Given the description of an element on the screen output the (x, y) to click on. 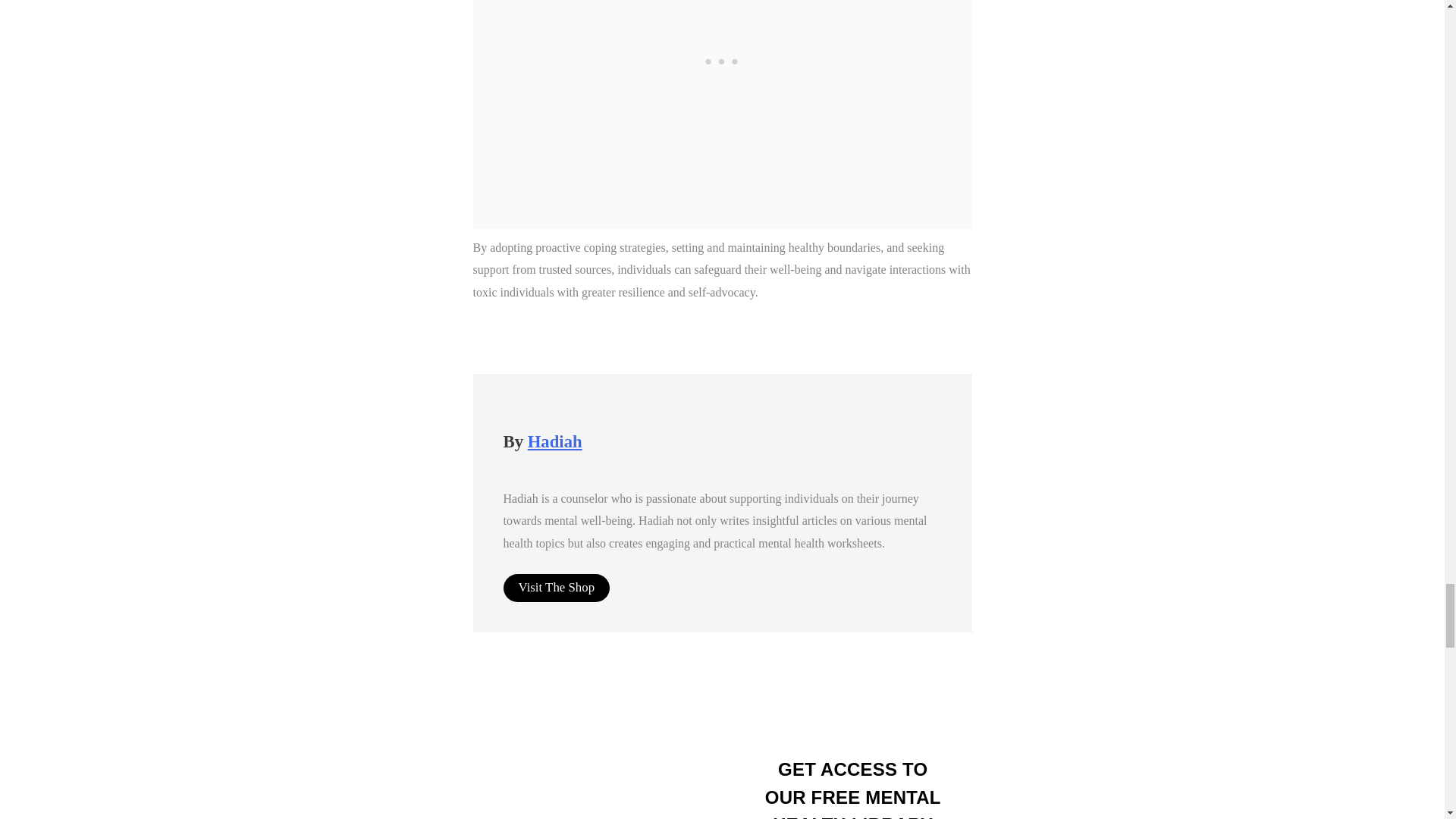
Visit The Shop (556, 587)
Hadiah (554, 441)
